Given the description of an element on the screen output the (x, y) to click on. 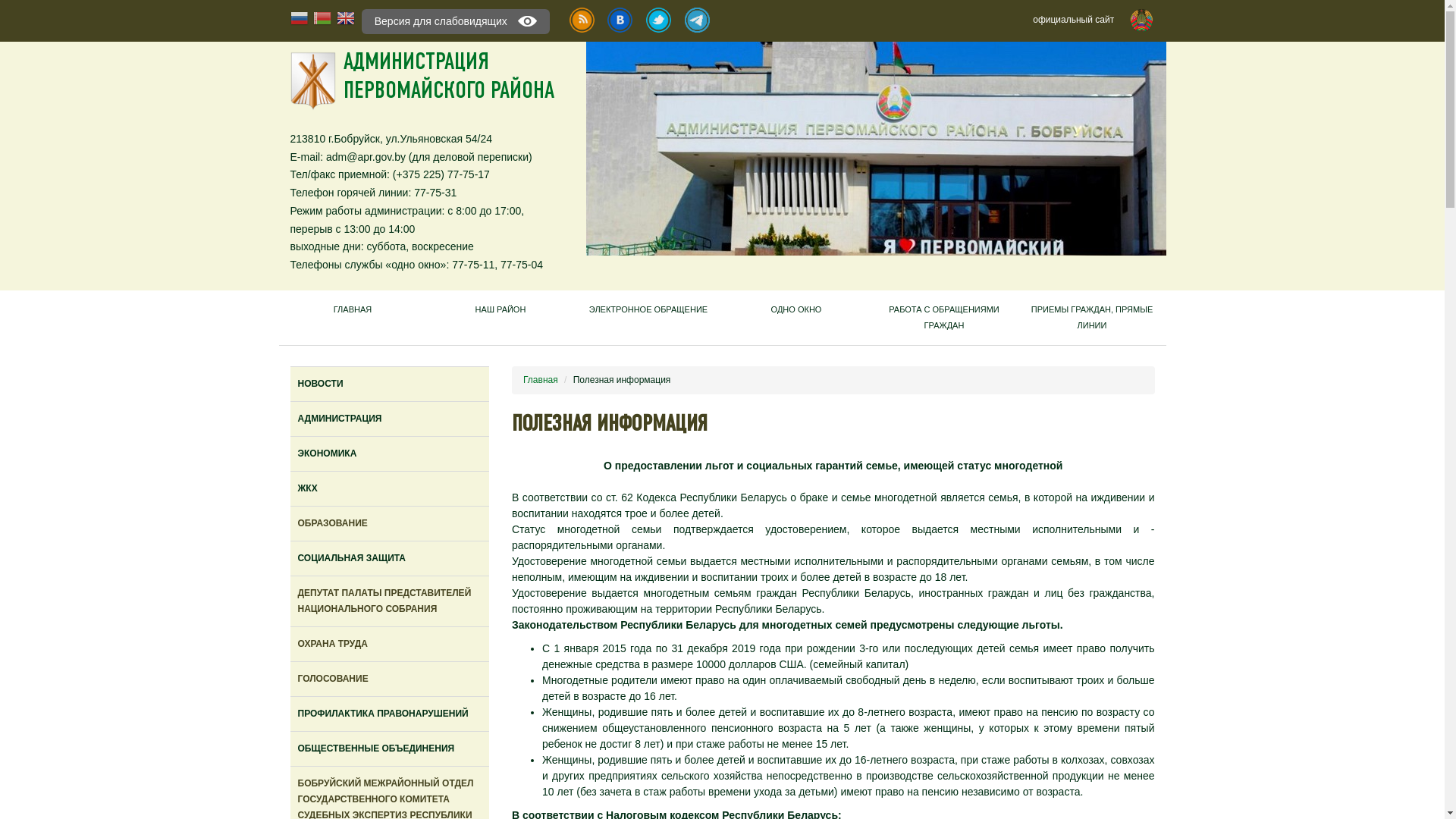
Twitter Element type: hover (658, 19)
English Element type: hover (345, 20)
RSS Element type: hover (581, 19)
Russian Element type: hover (301, 20)
Belarusian Element type: hover (324, 20)
